Given the description of an element on the screen output the (x, y) to click on. 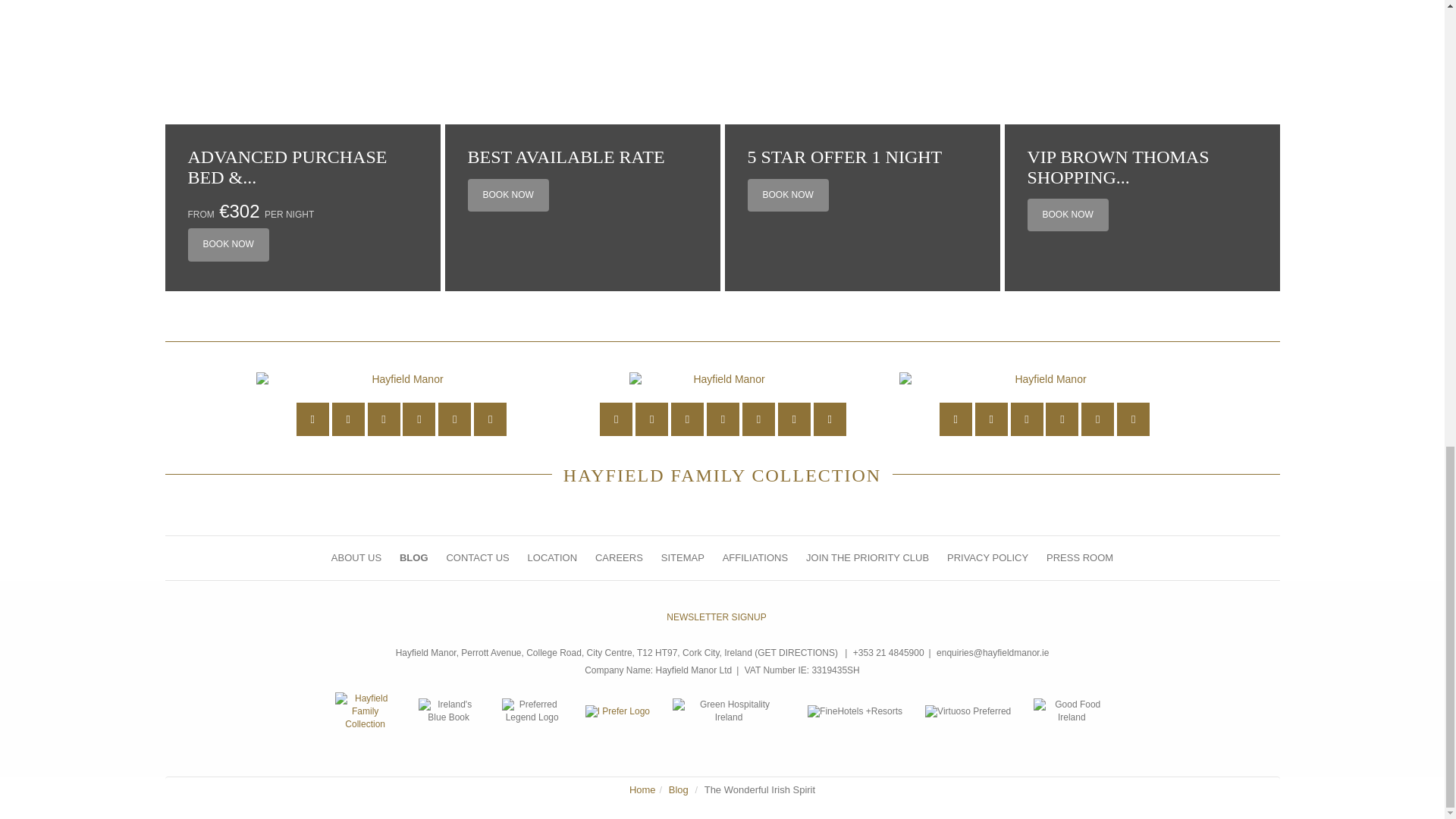
Pinterest (793, 418)
Instagram (758, 418)
Facebook (384, 418)
Location (955, 418)
Twitter (651, 418)
Twitter (348, 418)
Location (313, 418)
Location (615, 418)
Twitter (991, 418)
Facebook (1026, 418)
TripAdvisor (829, 418)
Facebook (687, 418)
Pinterest (454, 418)
YouTube (722, 418)
Instagram (1061, 418)
